Given the description of an element on the screen output the (x, y) to click on. 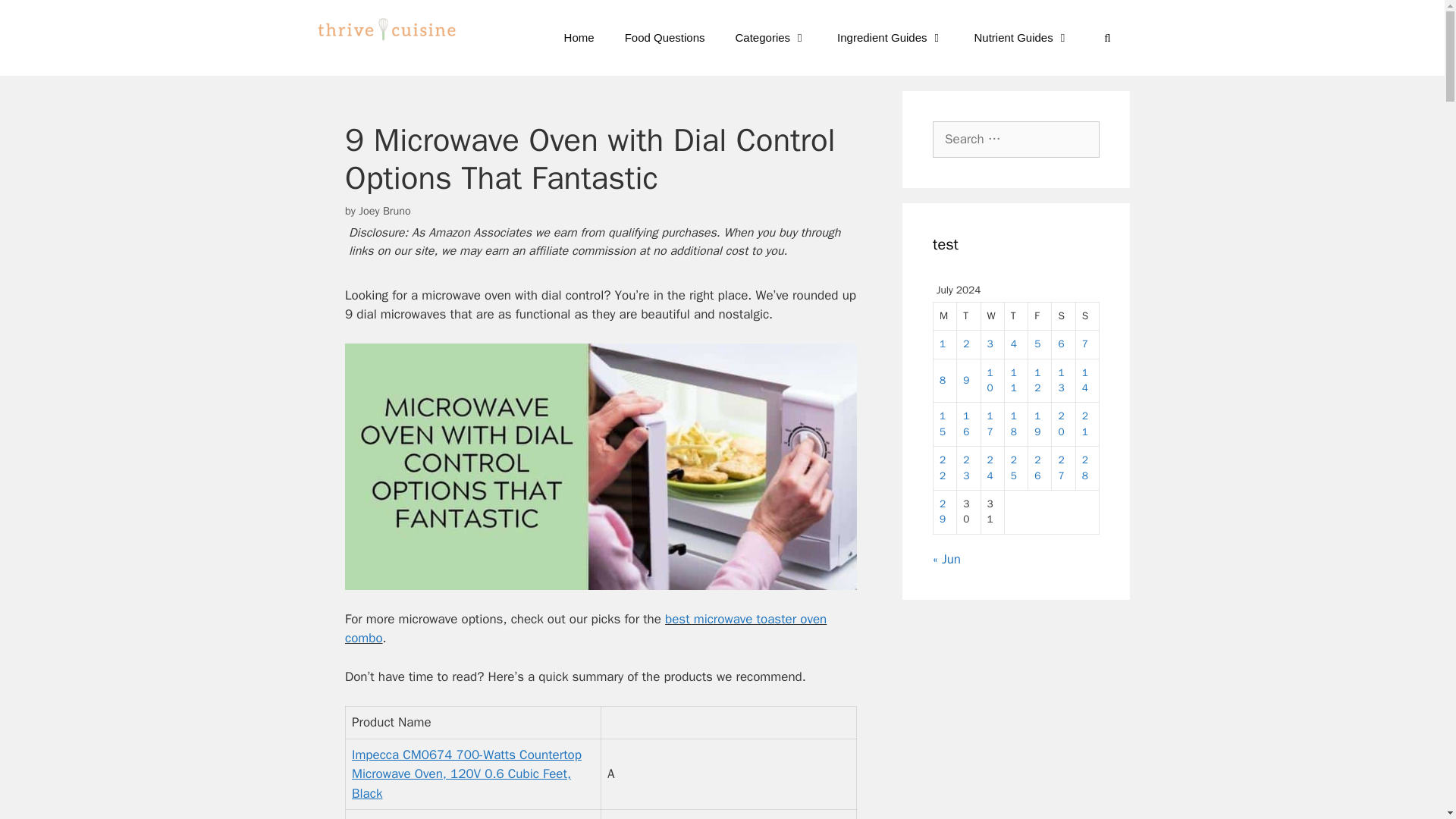
Categories (771, 37)
View all posts by Joey Bruno (384, 210)
Home (579, 37)
Food Questions (665, 37)
